Given the description of an element on the screen output the (x, y) to click on. 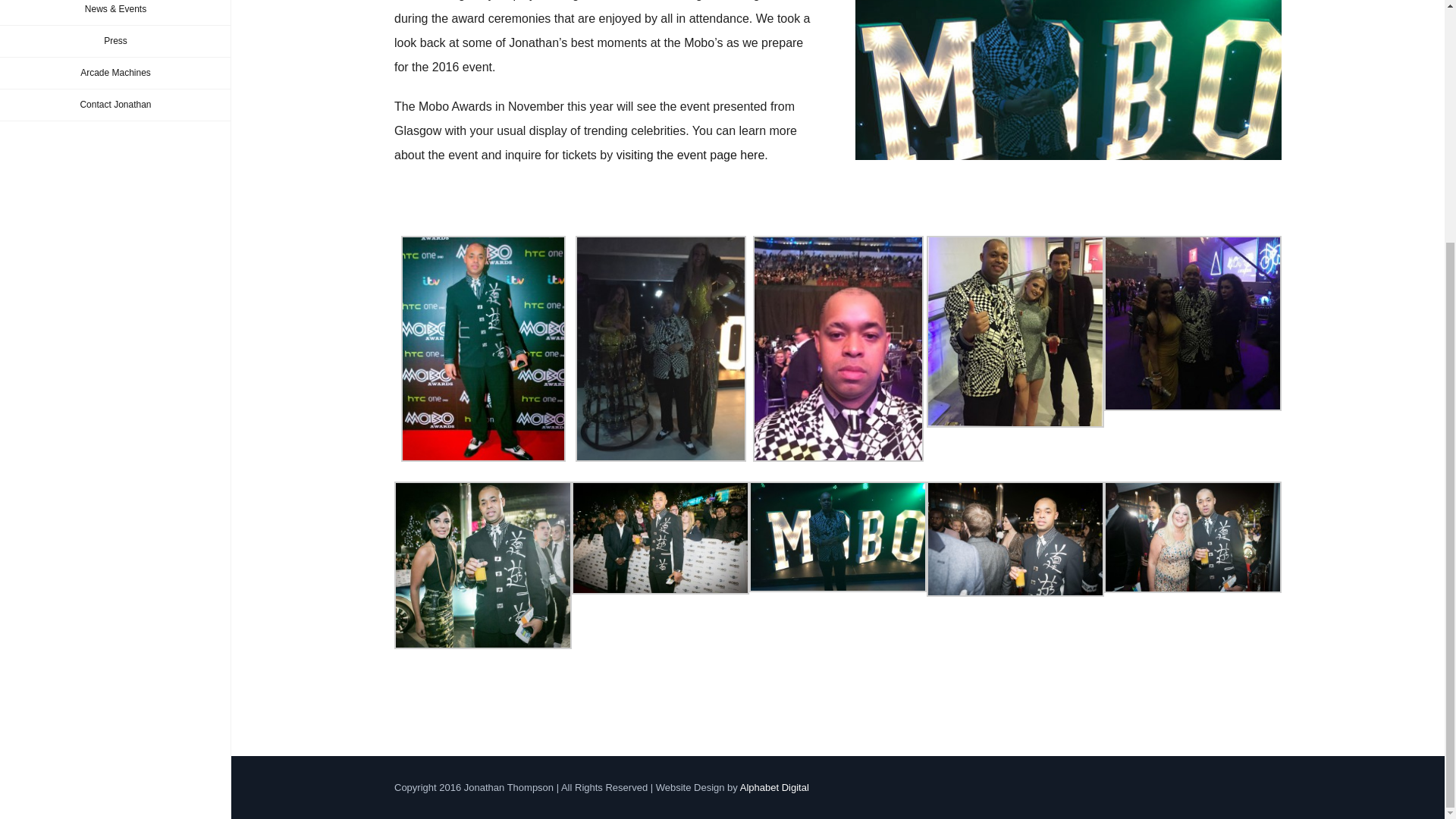
Arcade Machines (115, 73)
Contact Jonathan (115, 105)
visiting the event page here (690, 154)
Alphabet Digital (774, 787)
Press (115, 41)
